Given the description of an element on the screen output the (x, y) to click on. 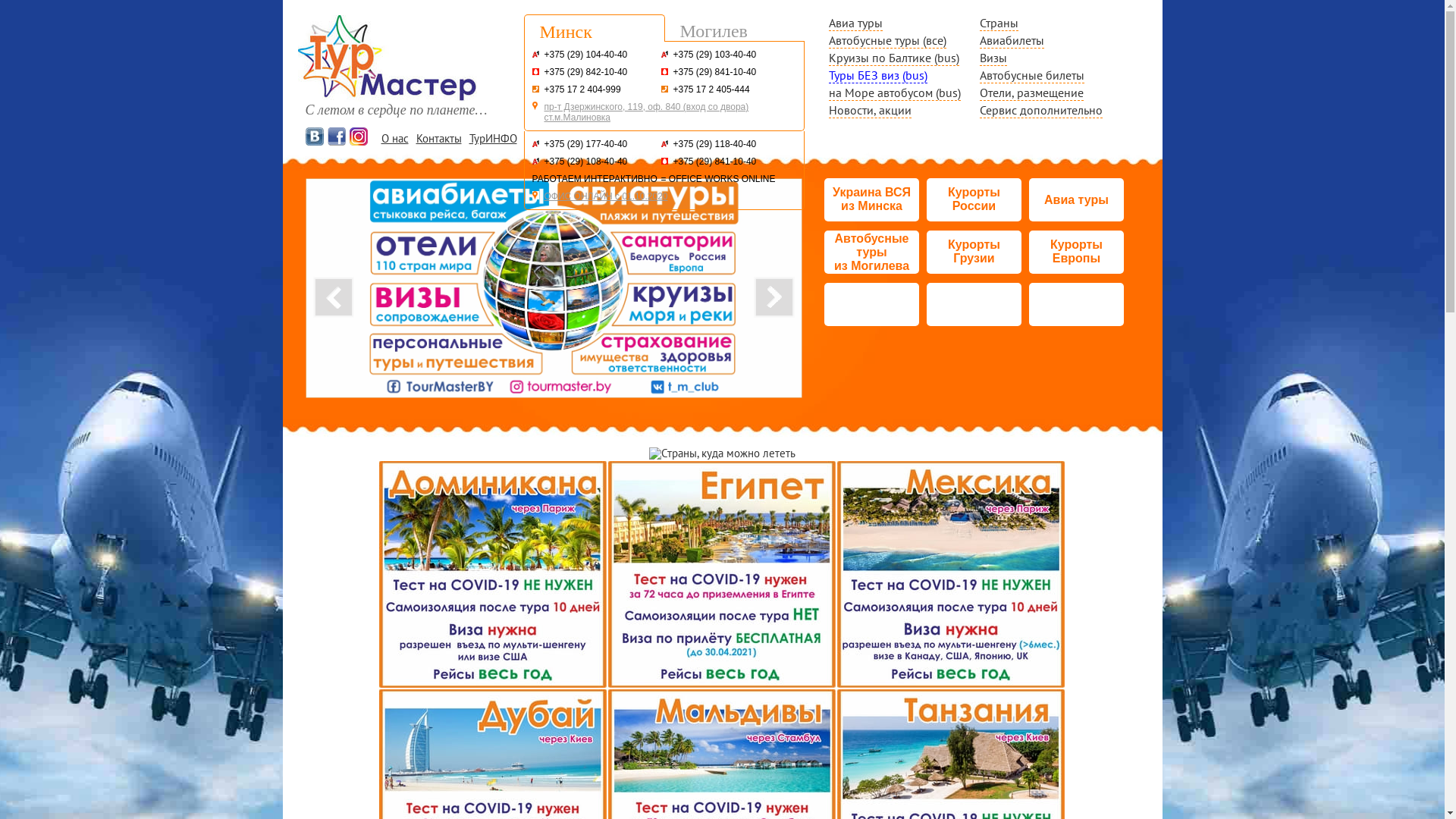
City Element type: hover (535, 88)
+375 17 2 405-444 Element type: text (711, 89)
= OFFICE WORKS ONLINE Element type: text (718, 178)
+375 (29) 177-40-40 Element type: text (585, 143)
+375 (29) 108-40-40 Element type: text (585, 161)
MTS Element type: hover (664, 71)
City Element type: hover (664, 88)
A1 Element type: hover (535, 143)
MTS Element type: hover (664, 160)
+375 (29) 104-40-40 Element type: text (585, 54)
TourMaster_BY Element type: text (581, 288)
A1 Element type: hover (535, 160)
+375 (29) 841-10-40 Element type: text (714, 71)
+375 (29) 842-10-40 Element type: text (585, 71)
+375 17 2 404-999 Element type: text (582, 89)
+375 (29) 118-40-40 Element type: text (714, 143)
A1 Element type: hover (535, 53)
A1 Element type: hover (664, 53)
+375 (29) 841-10-40 Element type: text (714, 161)
23-1-1_TM_service Element type: hover (552, 288)
A1 Element type: hover (664, 143)
+375 (29) 103-40-40 Element type: text (714, 54)
MTS Element type: hover (535, 71)
